Given the description of an element on the screen output the (x, y) to click on. 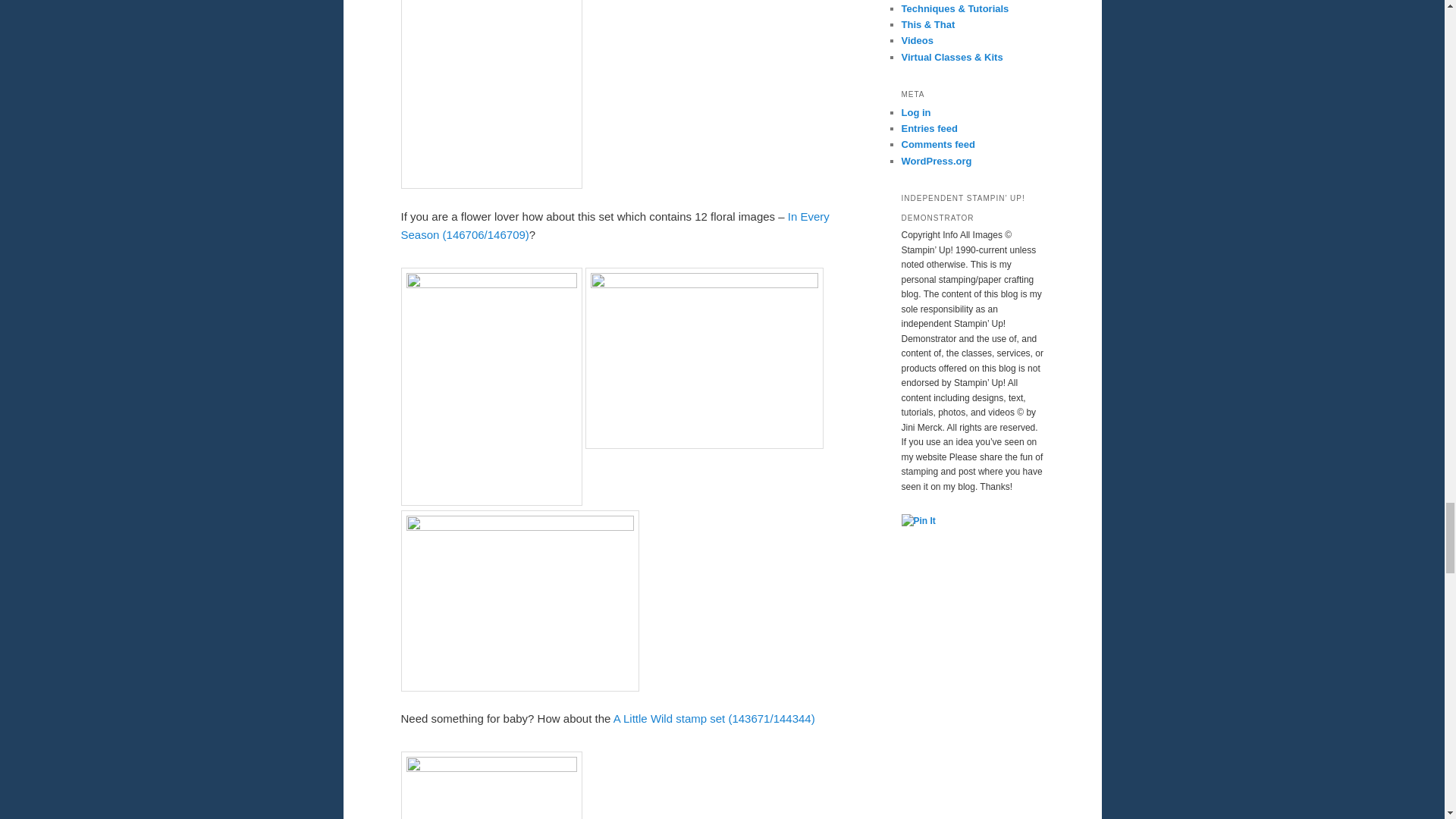
Pin It (917, 521)
